Given the description of an element on the screen output the (x, y) to click on. 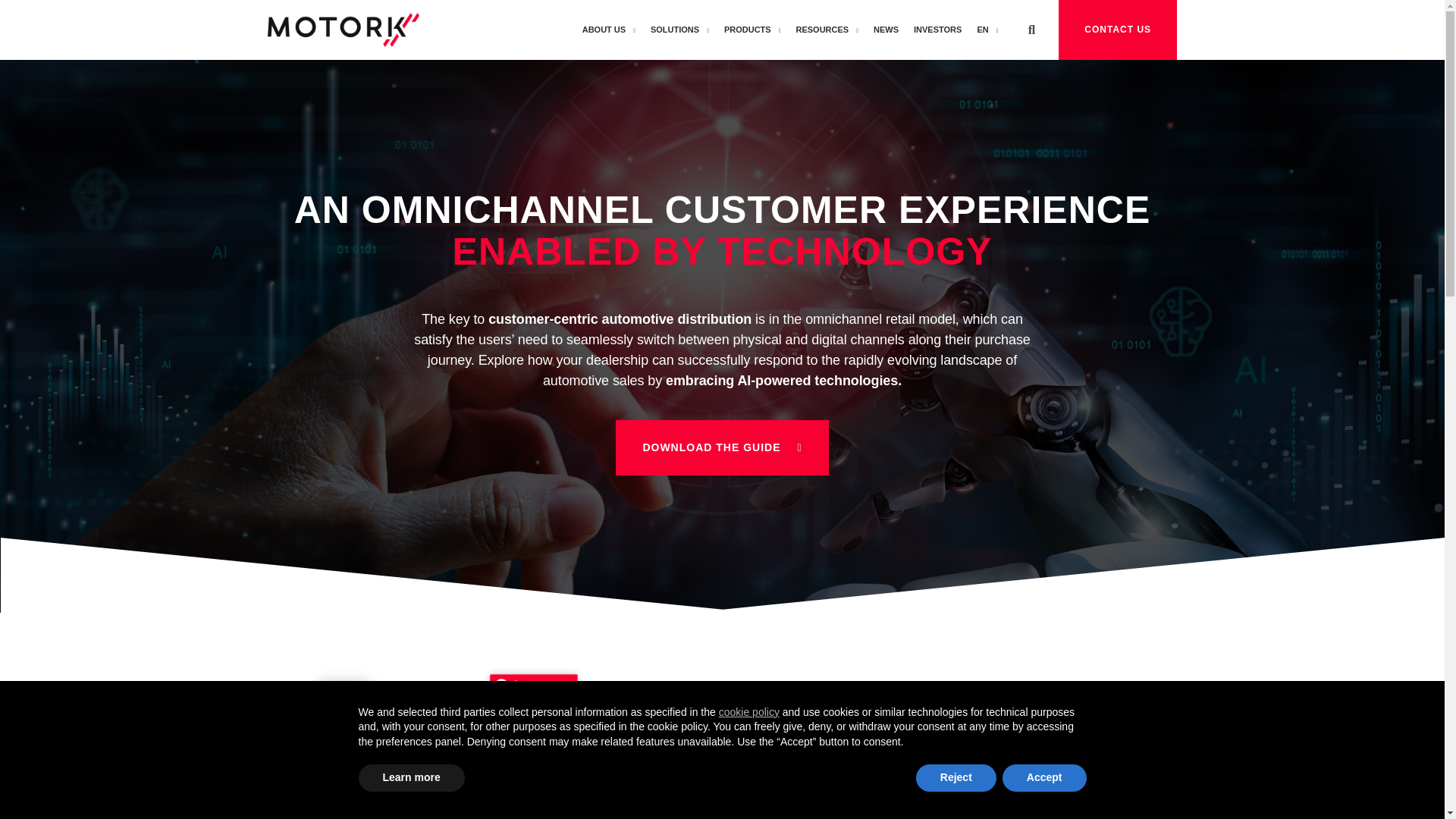
RESOURCES (827, 29)
INVESTORS (937, 29)
SOLUTIONS (679, 29)
ABOUT US (609, 29)
PRODUCTS (752, 29)
